Given the description of an element on the screen output the (x, y) to click on. 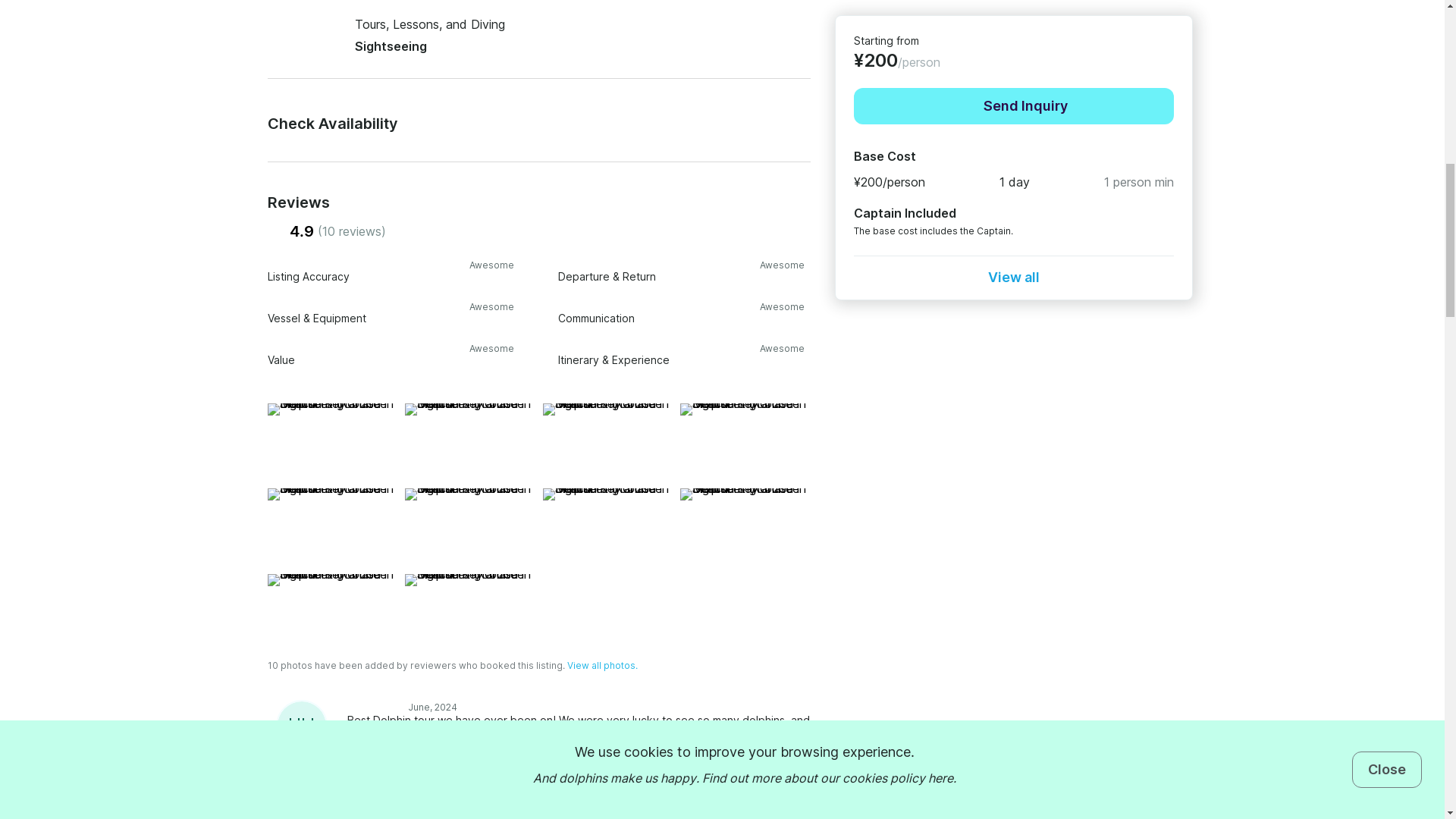
View all photos. (602, 665)
